Given the description of an element on the screen output the (x, y) to click on. 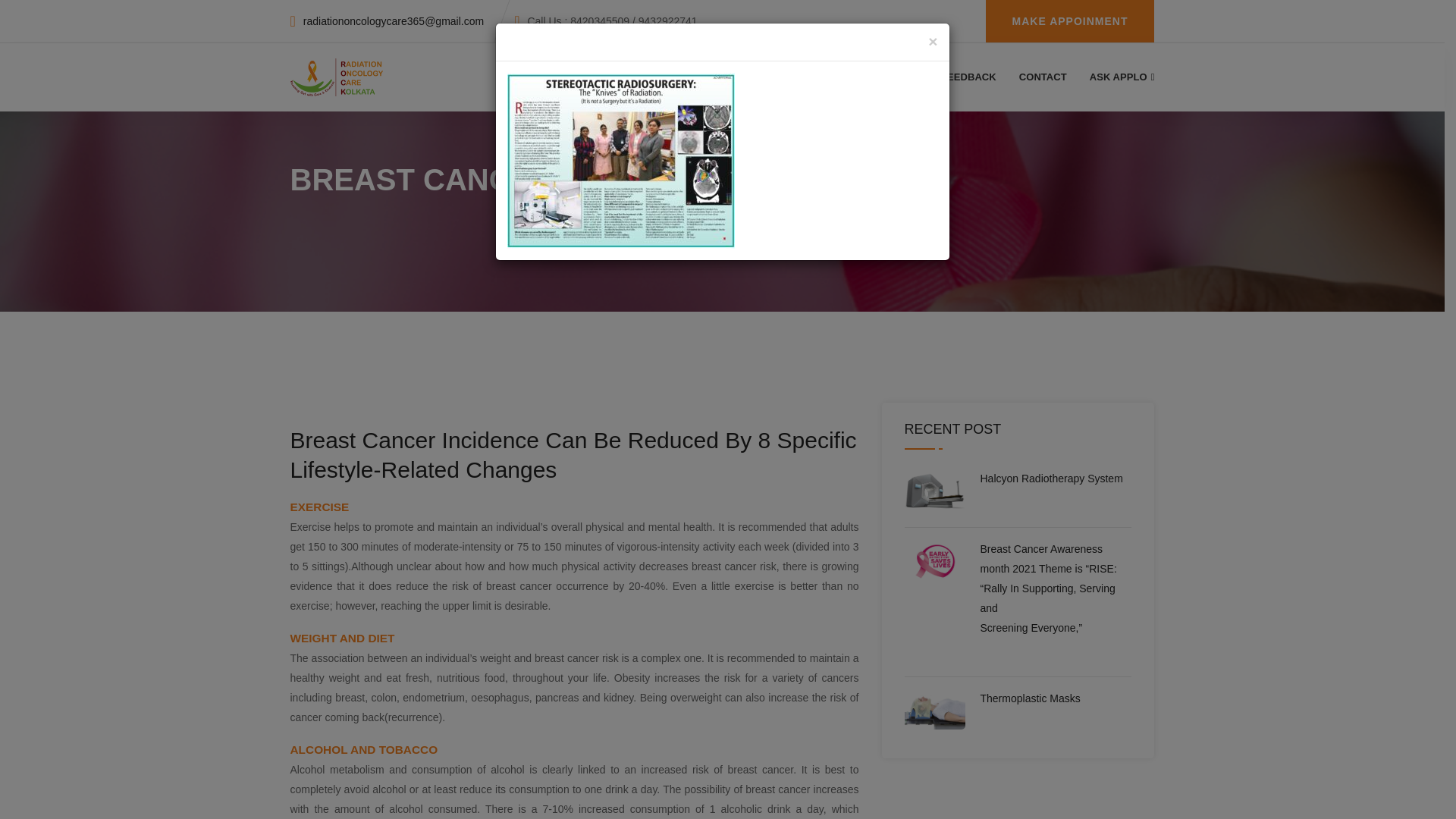
MAKE APPOINMENT (1069, 21)
DOCTORES (724, 77)
CONTACT (1042, 77)
FEEDBACK (968, 77)
SPECIALTY (809, 77)
GALLERY (890, 77)
Halcyon Radiotherapy System (1050, 478)
Thermoplastic Masks (1029, 698)
ASK APPLO (1122, 77)
